Given the description of an element on the screen output the (x, y) to click on. 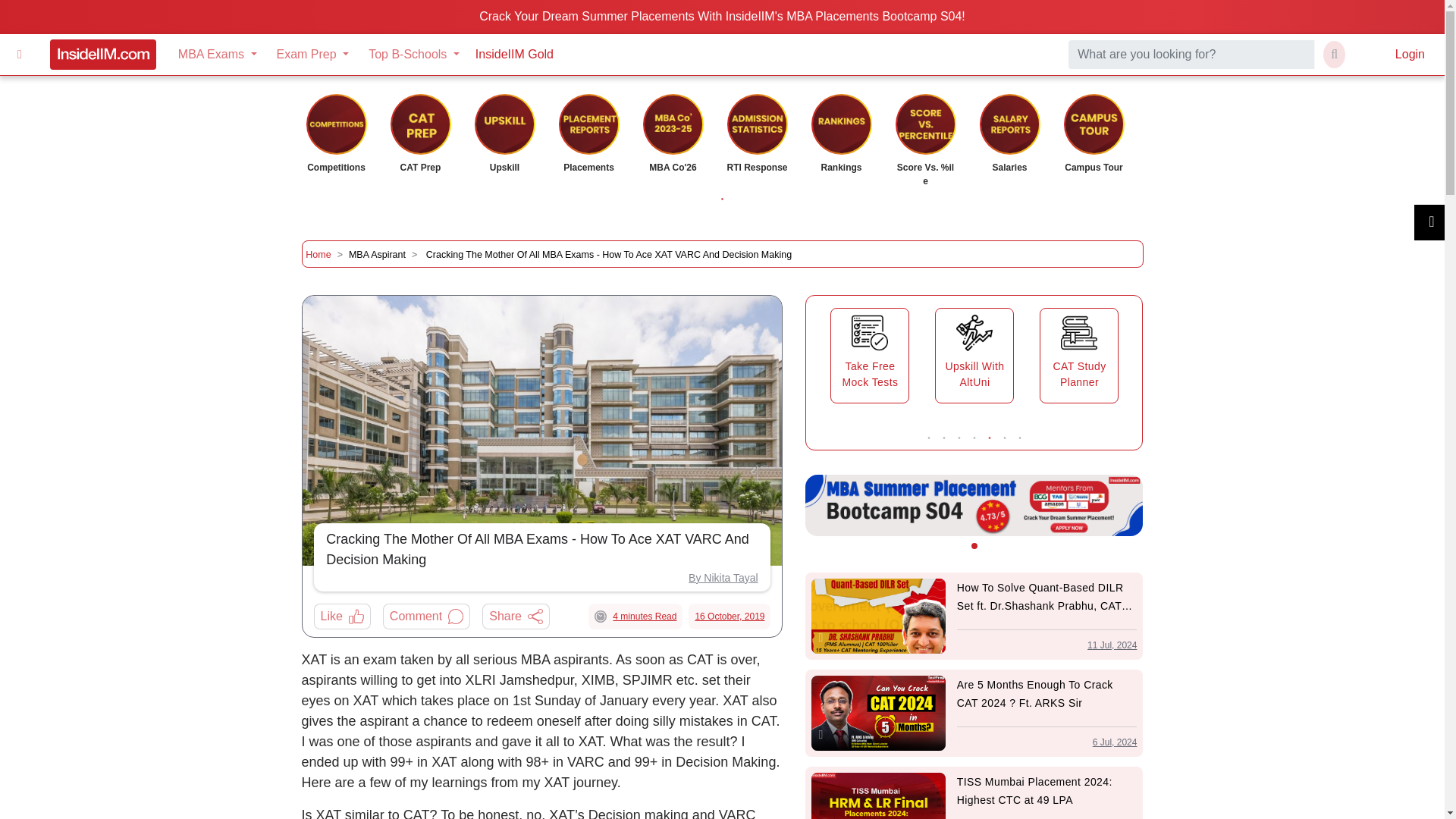
Exam Prep (312, 54)
MBA Exams (217, 54)
